Given the description of an element on the screen output the (x, y) to click on. 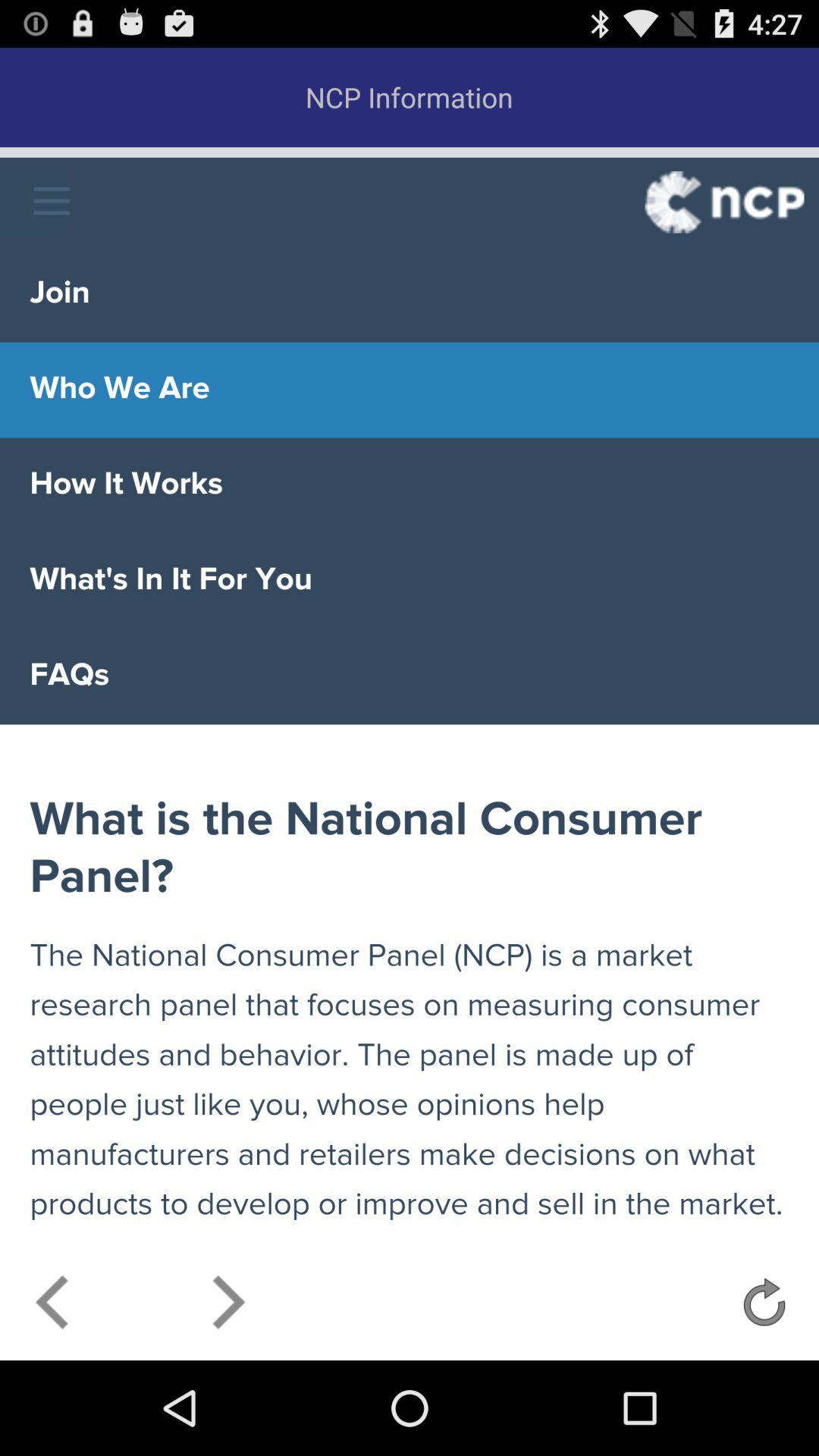
go to back (53, 1306)
